Given the description of an element on the screen output the (x, y) to click on. 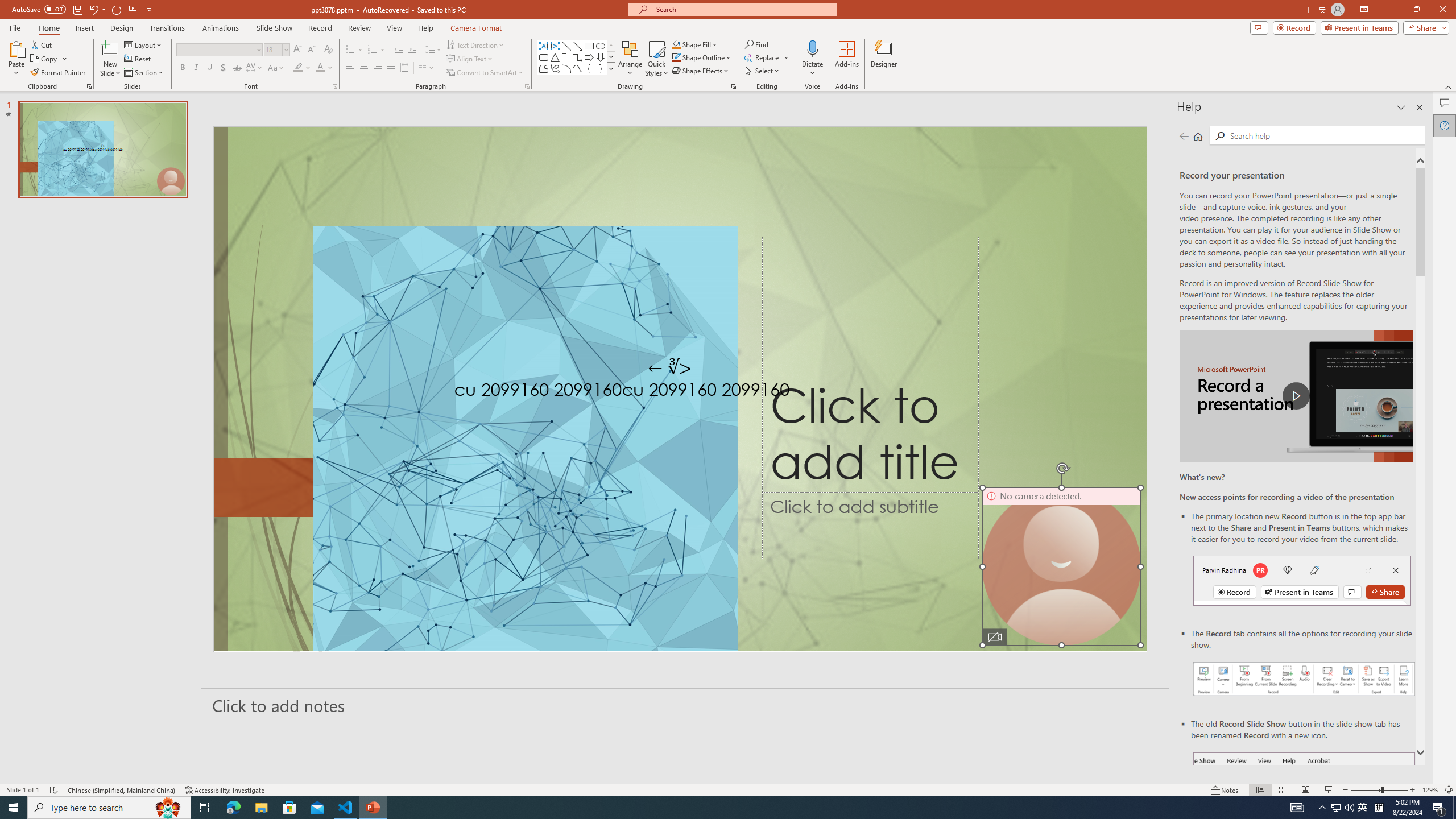
Shape Effects (700, 69)
